Given the description of an element on the screen output the (x, y) to click on. 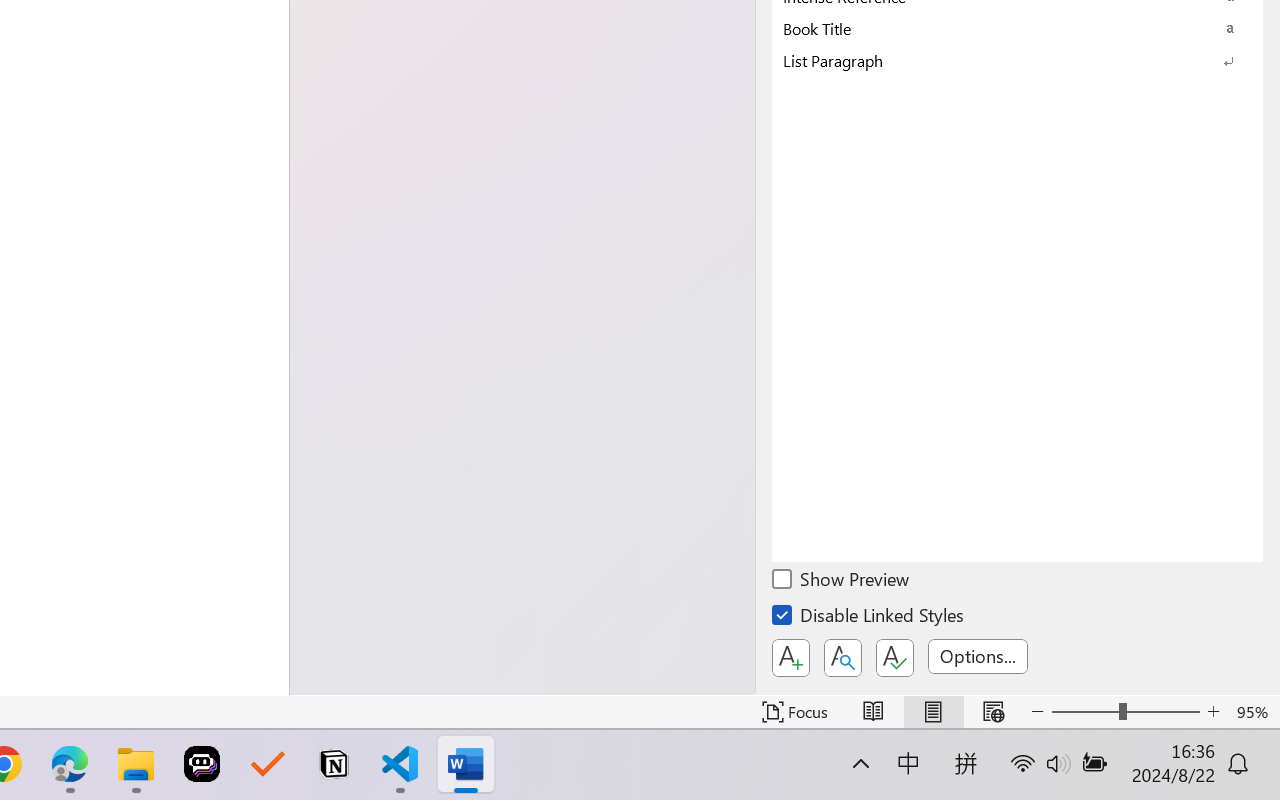
Options... (977, 656)
Zoom 95% (1253, 712)
Disable Linked Styles (869, 618)
List Paragraph (1017, 60)
Book Title (1017, 28)
Class: NetUIButton (894, 657)
Show Preview (841, 582)
